Given the description of an element on the screen output the (x, y) to click on. 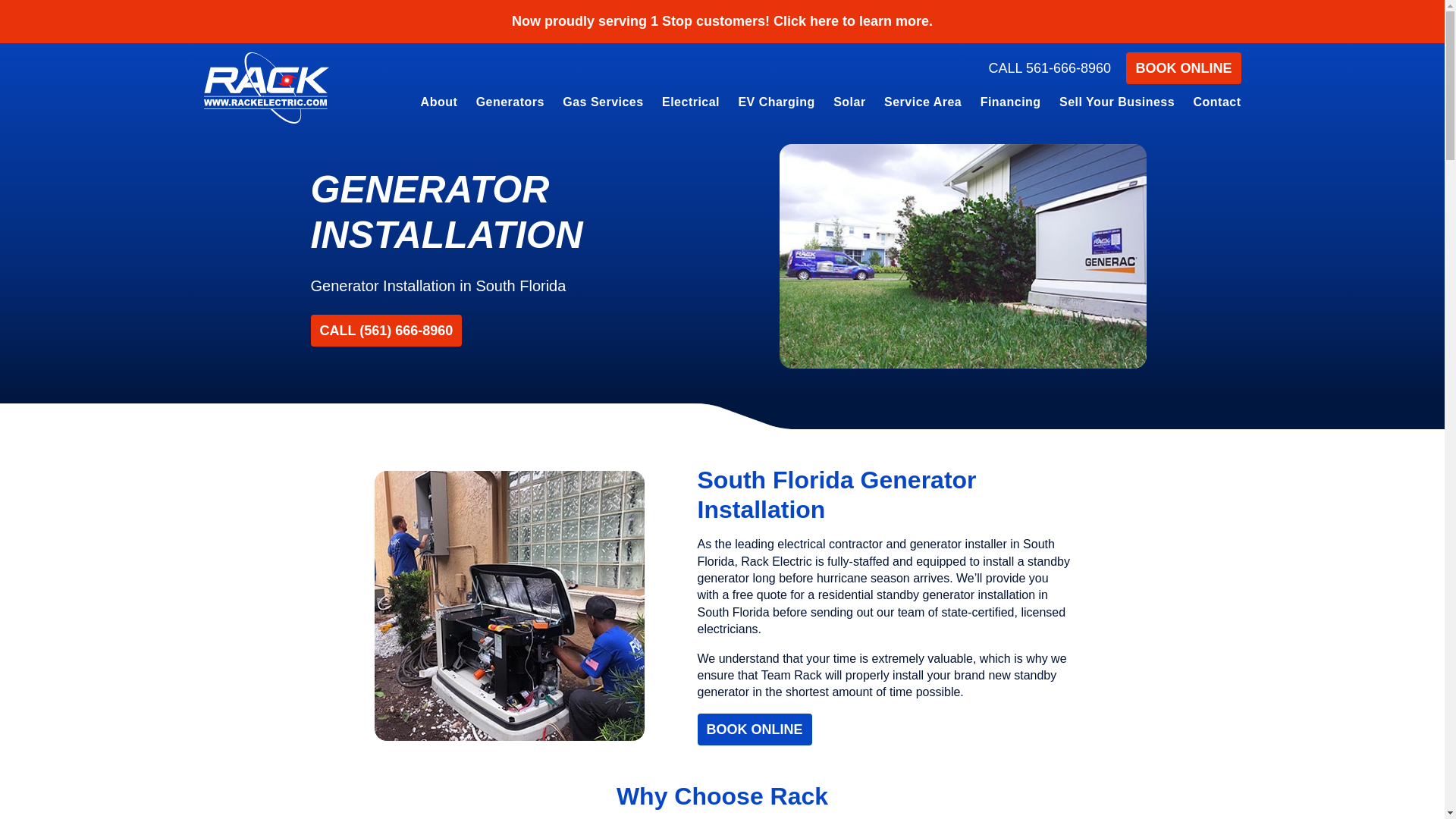
Service Area (922, 105)
Electrical (690, 105)
Generators (510, 105)
About (439, 105)
Solar (849, 105)
Gas Services (602, 105)
EV Charging (775, 105)
CALL 561-666-8960 (1049, 68)
BOOK ONLINE (1182, 68)
